Given the description of an element on the screen output the (x, y) to click on. 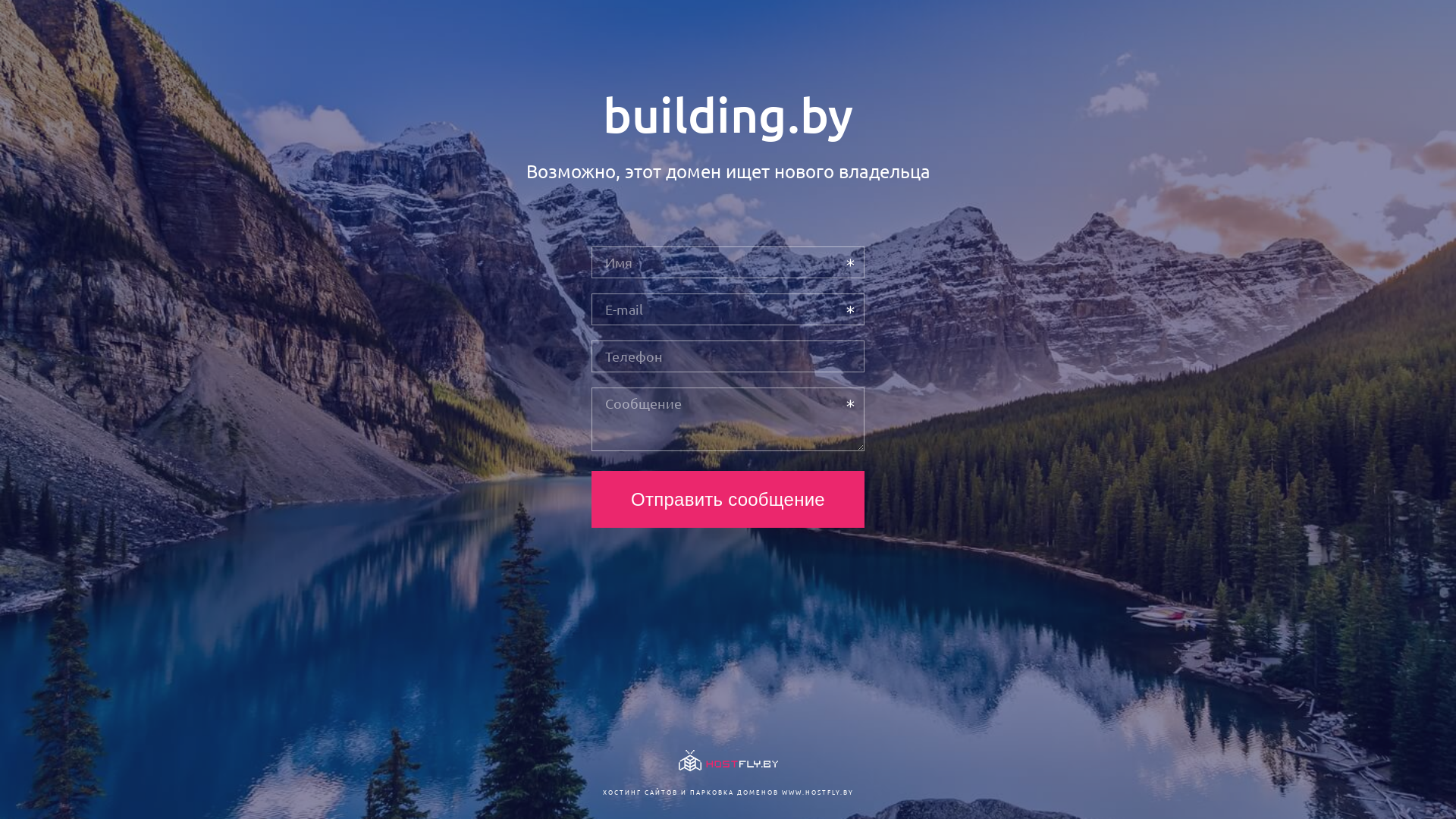
WWW.HOSTFLY.BY Element type: text (817, 791)
